Given the description of an element on the screen output the (x, y) to click on. 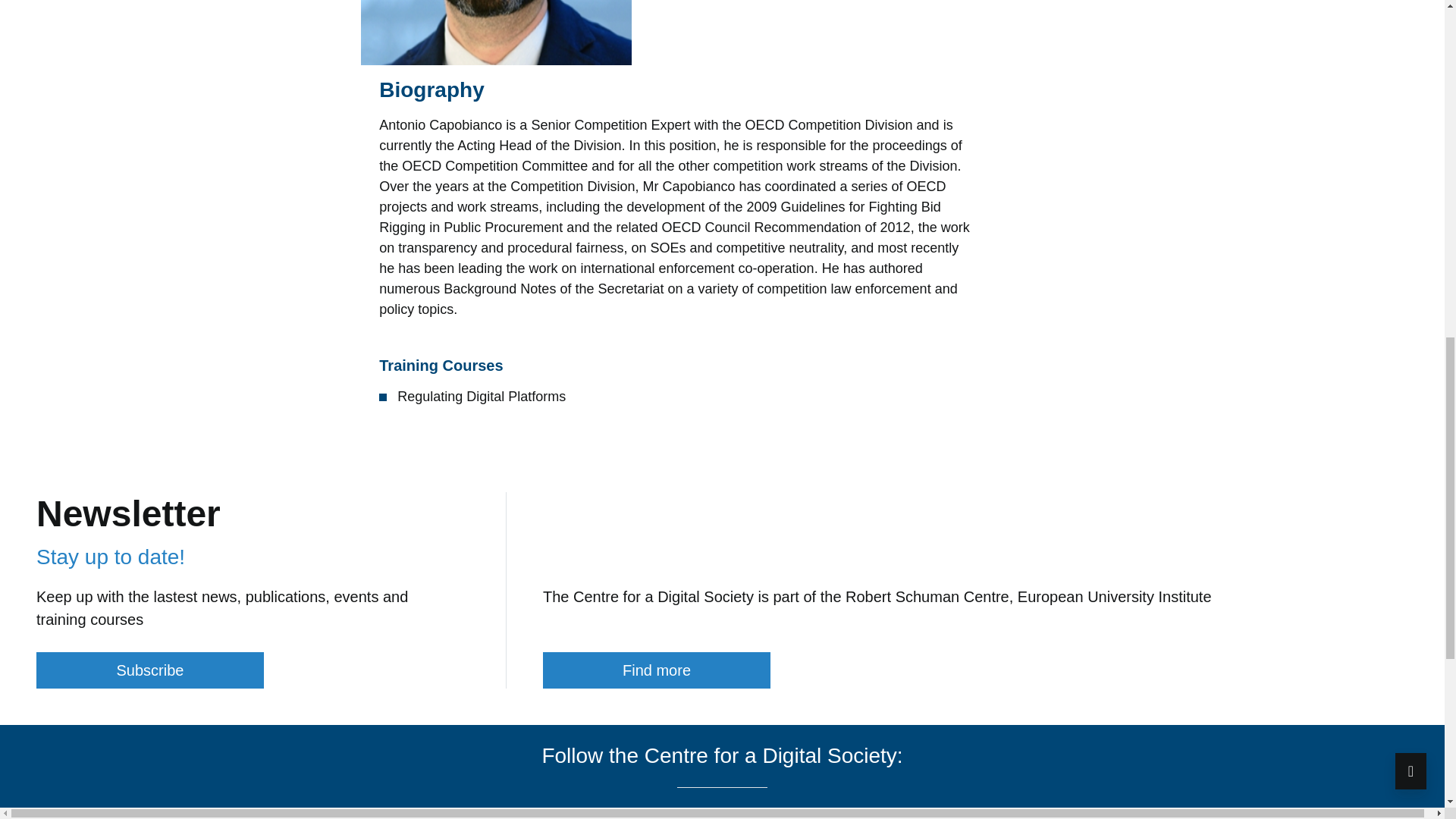
Centre for a Digital Society on YOUTUBE (715, 816)
Centre for a Digital Society on YOUTUBE (715, 816)
Subscribe (149, 669)
Centre for a Digital Society on TWITTER (683, 816)
Centre for a Digital Society on LINKEDIN (744, 816)
View Regulating Digital Platforms (481, 396)
Centre for a Digital Society on TWITTER (683, 816)
Centre for a Digital Society on LINKEDIN (744, 816)
Regulating Digital Platforms (481, 396)
Find more (656, 669)
